Given the description of an element on the screen output the (x, y) to click on. 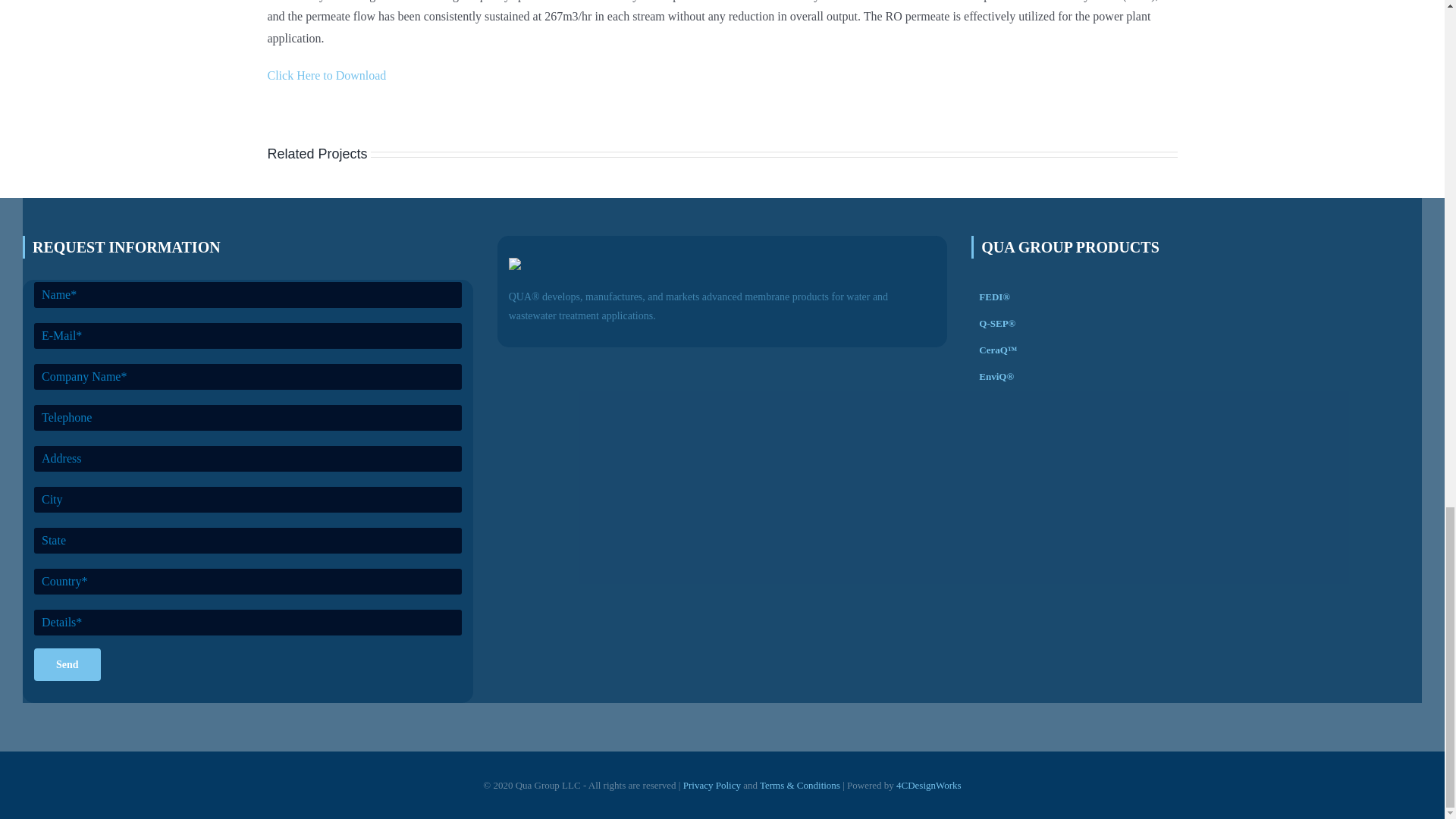
Page 2 (721, 24)
Click Here to Download (325, 74)
Send (66, 664)
